Given the description of an element on the screen output the (x, y) to click on. 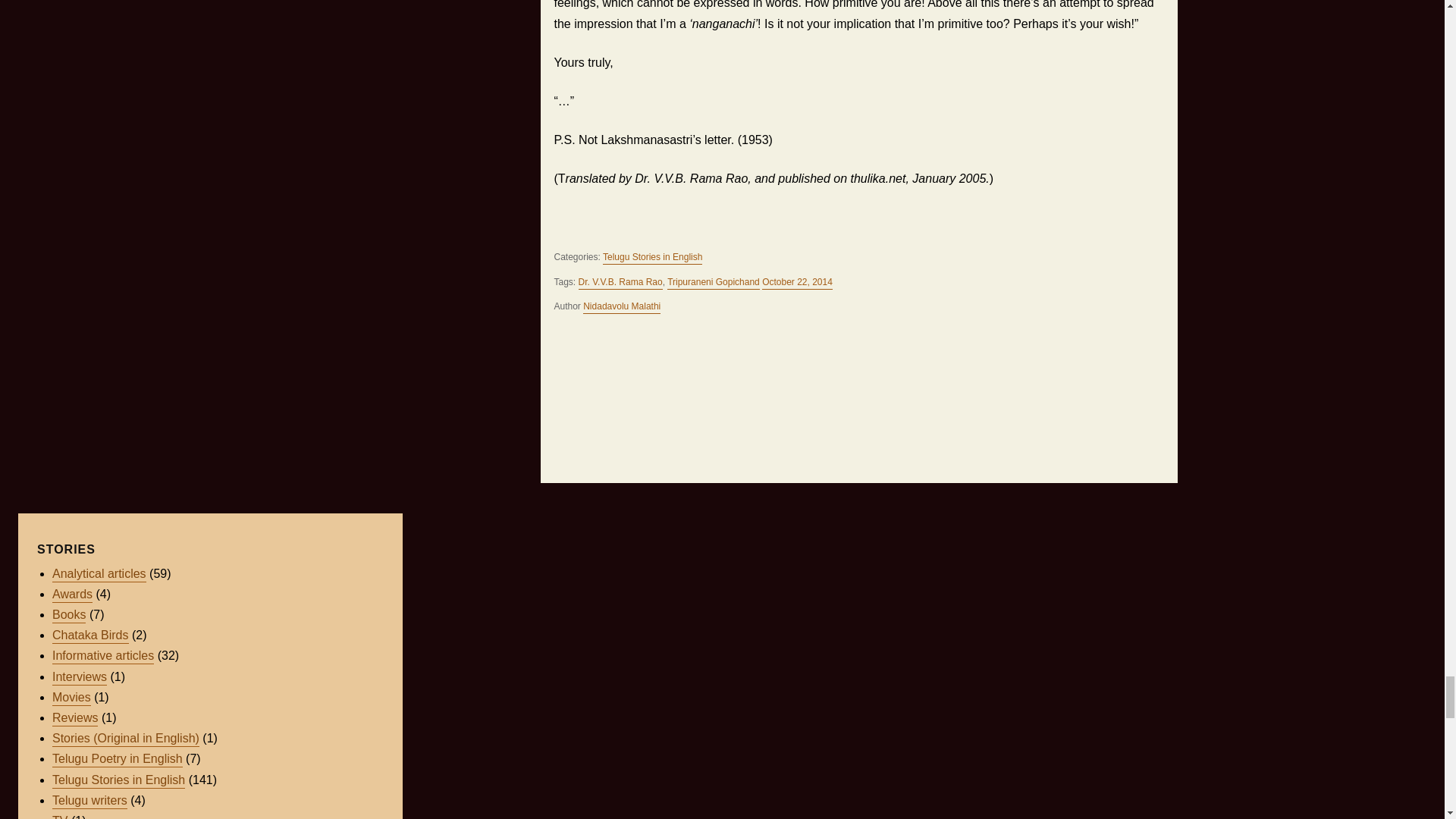
October 22, 2014 (796, 282)
View all posts by Nidadavolu Malathi (622, 307)
TV (59, 816)
Nidadavolu Malathi (622, 307)
Interviews (79, 677)
7:49 pm (796, 282)
Movies (71, 698)
Telugu Poetry in English (117, 759)
Books (68, 615)
Telugu writers (90, 801)
Chataka Birds (90, 635)
Dr. V.V.B. Rama Rao (620, 282)
Tripuraneni Gopichand (713, 282)
Reviews (74, 718)
Awards (72, 595)
